Given the description of an element on the screen output the (x, y) to click on. 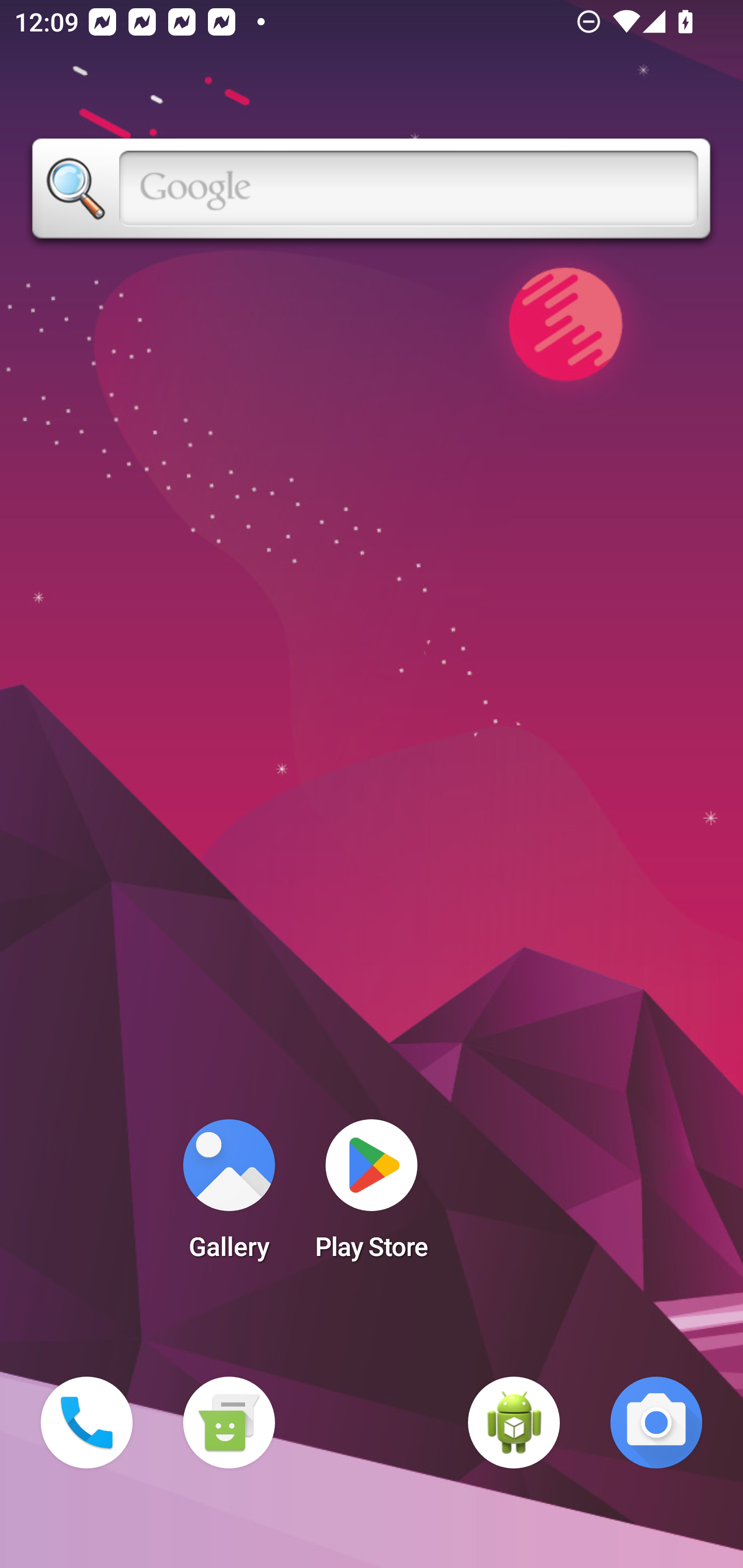
Gallery (228, 1195)
Play Store (371, 1195)
Phone (86, 1422)
Messaging (228, 1422)
WebView Browser Tester (513, 1422)
Camera (656, 1422)
